Given the description of an element on the screen output the (x, y) to click on. 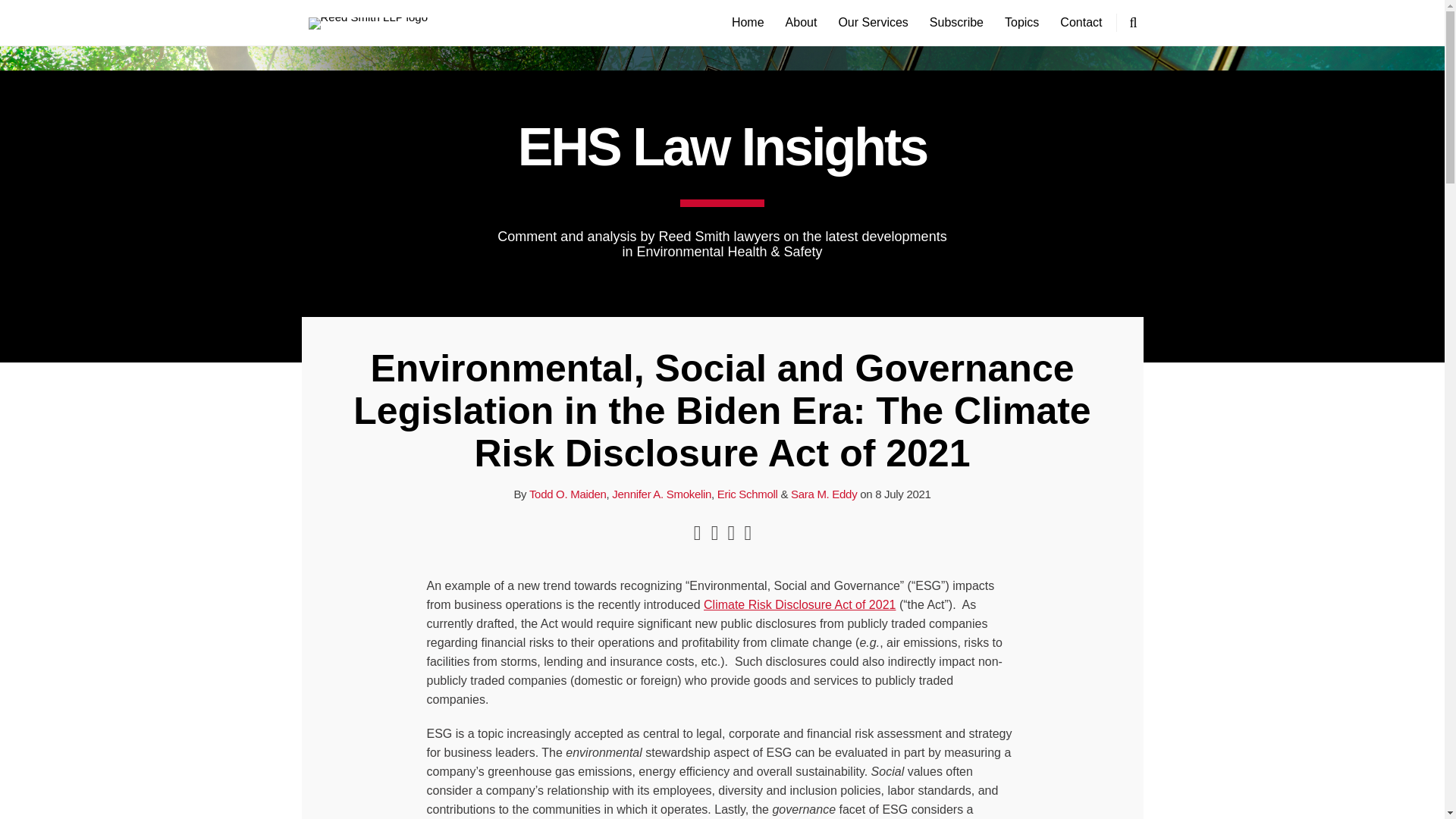
Home (748, 22)
Todd O. Maiden (568, 493)
Contact (1080, 22)
About (801, 22)
Our Services (872, 22)
Jennifer A. Smokelin (661, 493)
EHS Law Insights (722, 146)
Climate Risk Disclosure Act of 2021 (799, 604)
Subscribe (957, 22)
Eric Schmoll (747, 493)
